Given the description of an element on the screen output the (x, y) to click on. 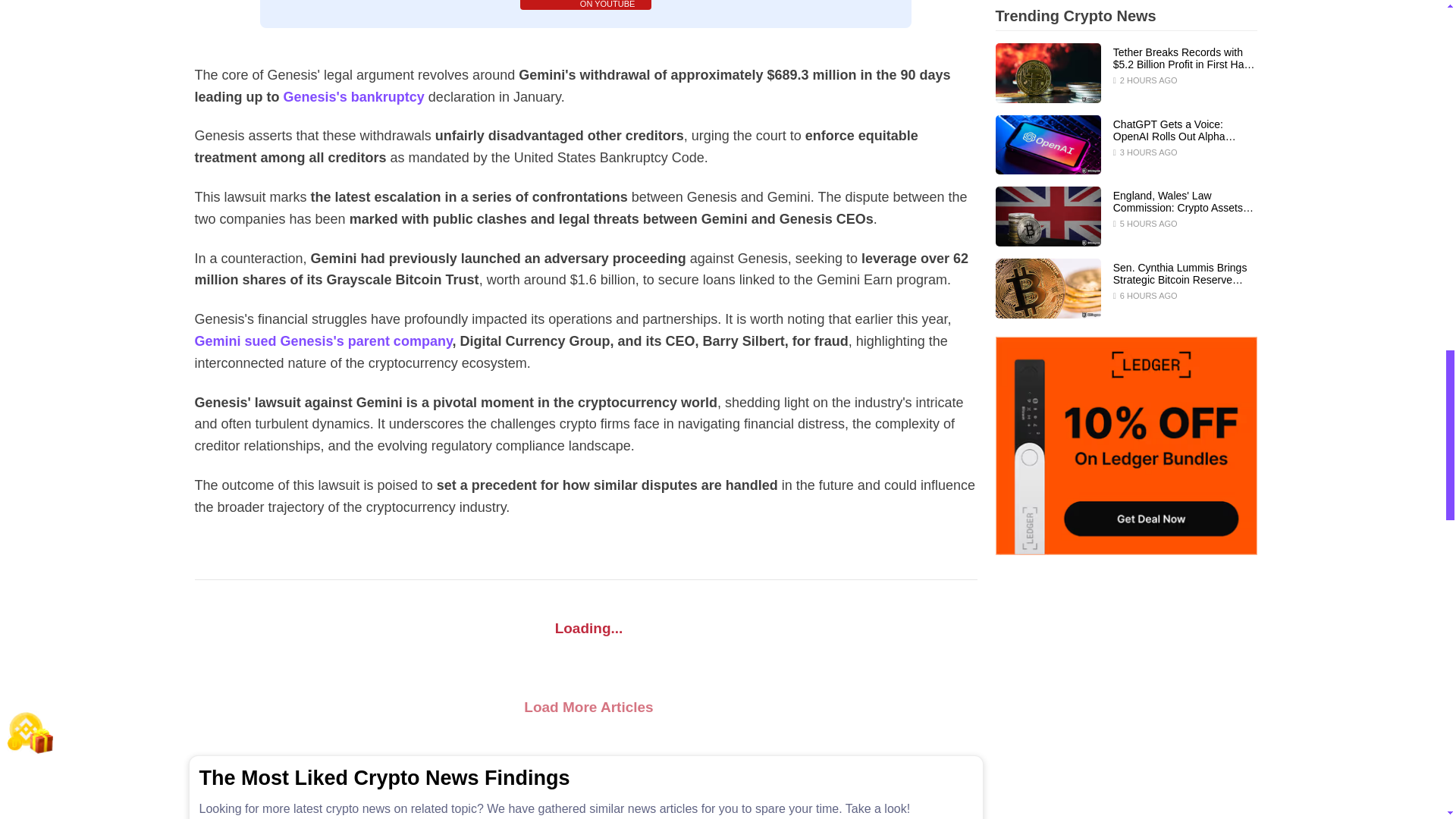
Load More Articles (584, 707)
Gemini sued Genesis's parent company (322, 340)
Loading... (585, 627)
Genesis's bankruptcy (585, 4)
